Given the description of an element on the screen output the (x, y) to click on. 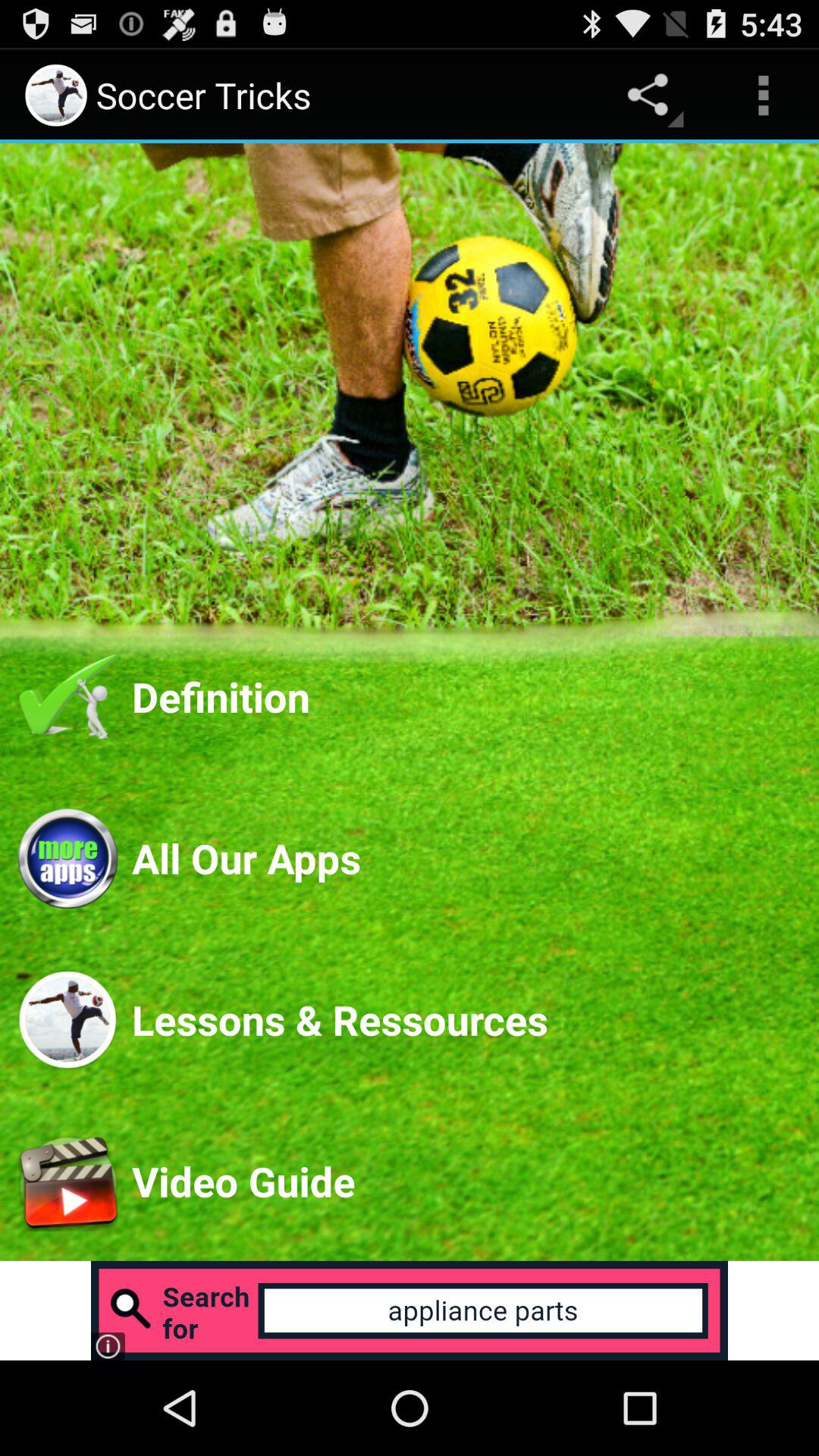
choose the all our apps (465, 857)
